Given the description of an element on the screen output the (x, y) to click on. 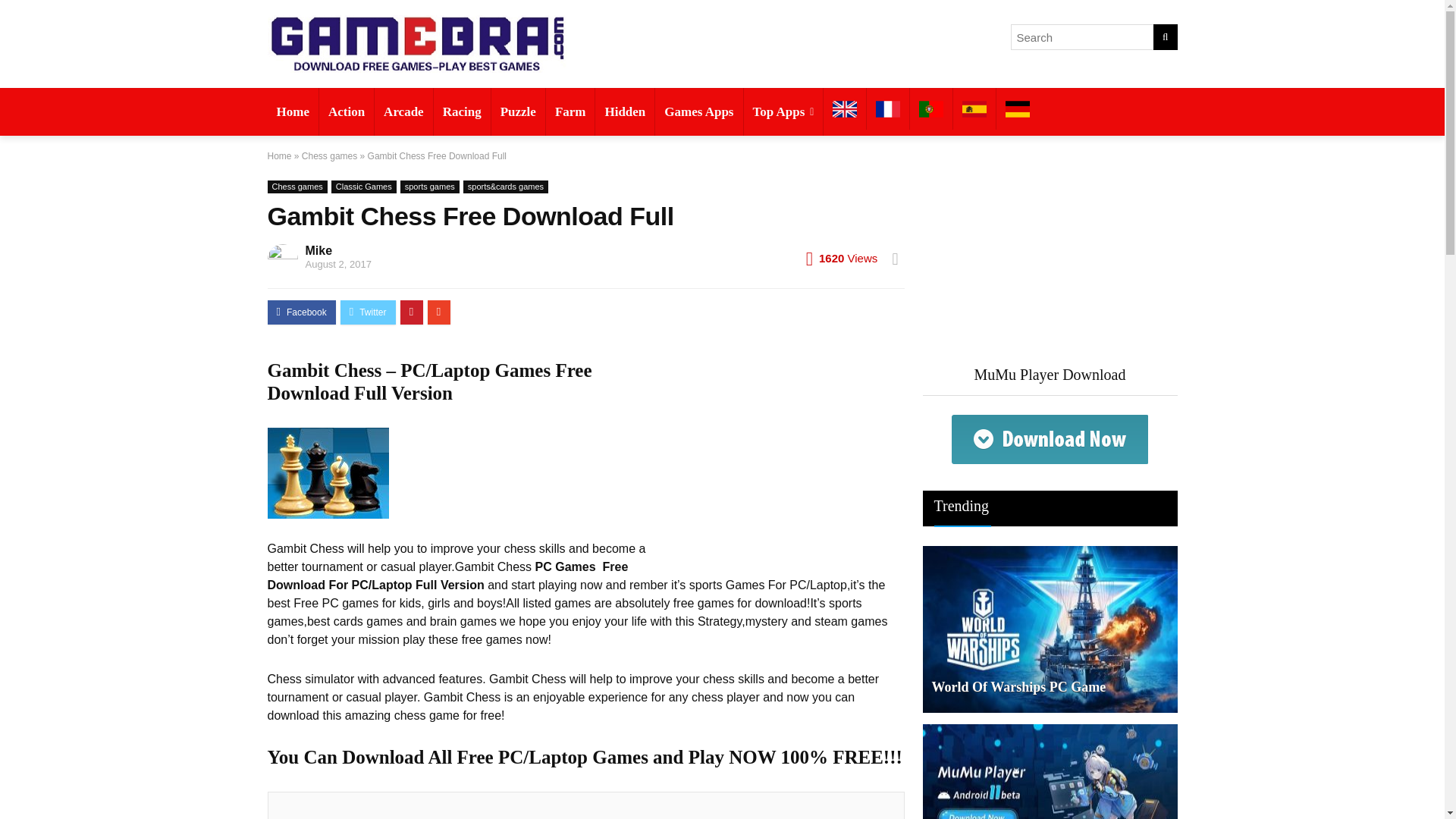
Home (291, 111)
Racing (461, 111)
Arcade (403, 111)
View all posts in Classic Games (363, 186)
Top Apps (782, 111)
Farm (570, 111)
Action (346, 111)
Hidden (624, 111)
Advertisement (1048, 256)
Advertisement (588, 809)
